Given the description of an element on the screen output the (x, y) to click on. 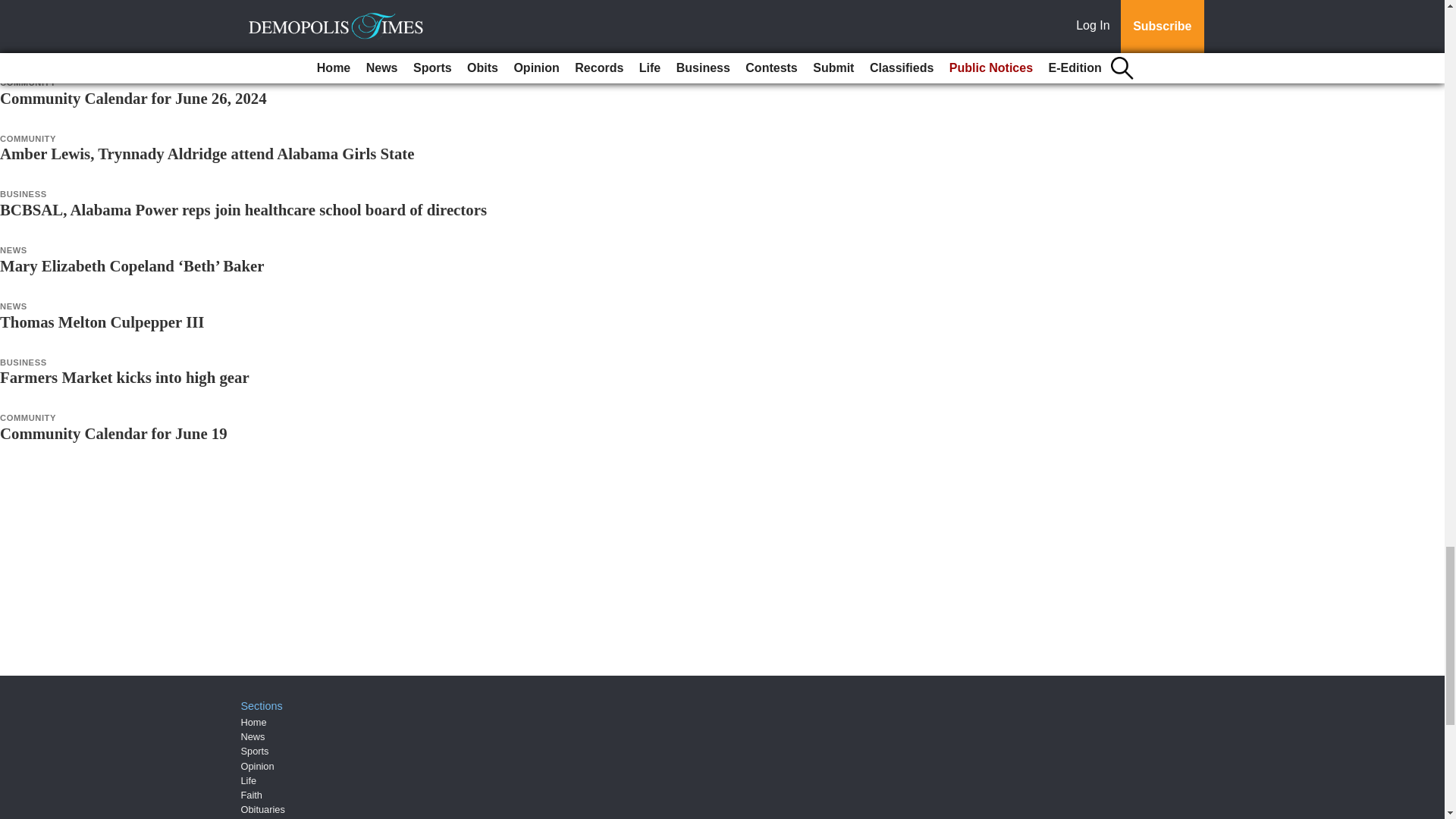
Community Calendar for June 26, 2024 (133, 98)
Amber Lewis, Trynnady Aldridge attend Alabama Girls State (207, 153)
Church Calendar for June 26, 2024 (118, 41)
